Given the description of an element on the screen output the (x, y) to click on. 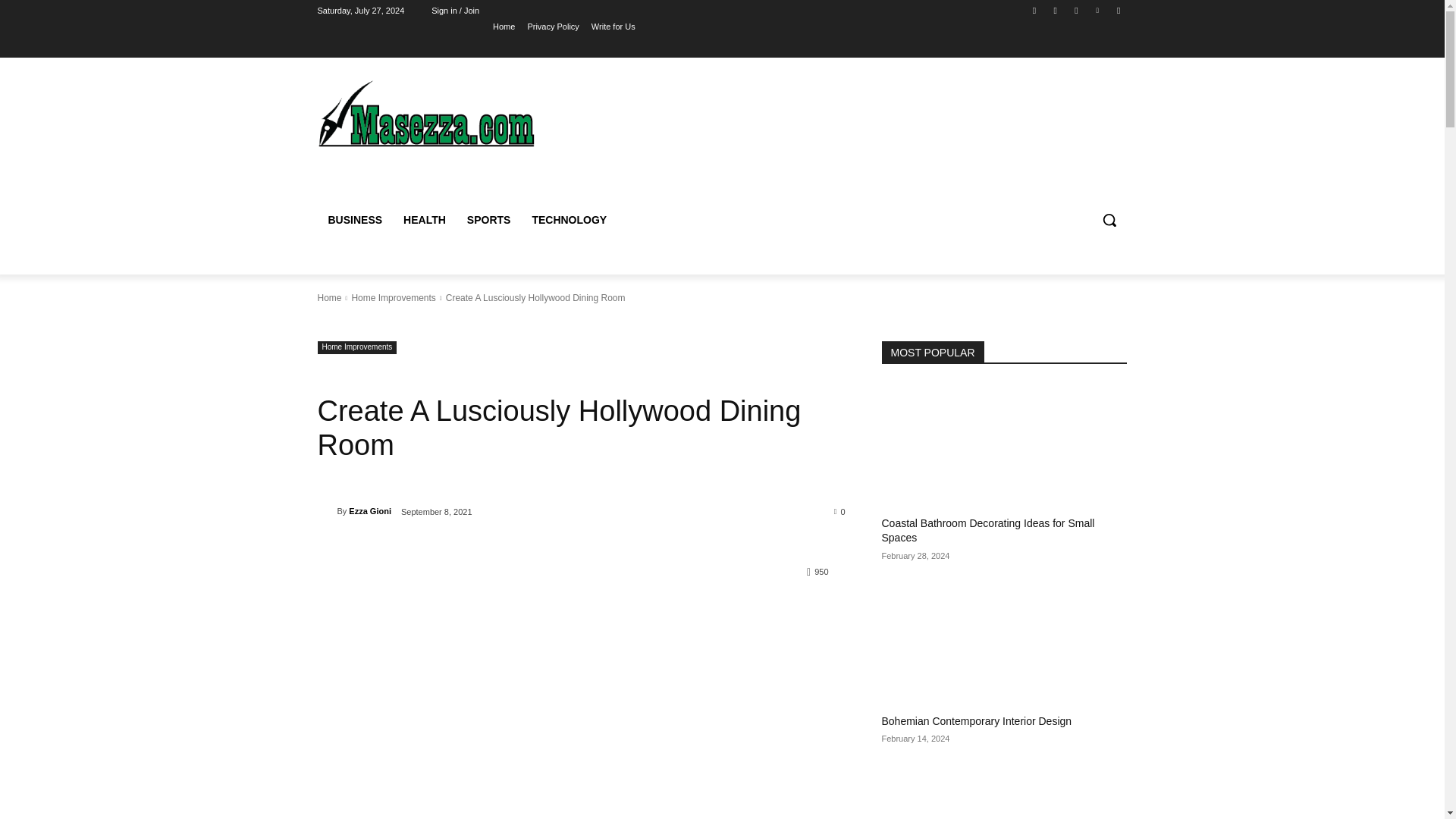
BUSINESS (355, 219)
Youtube (1117, 9)
Ezza Gioni (370, 510)
Vimeo (1097, 9)
View all posts in Home Improvements (392, 297)
Twitter (1075, 9)
0 (839, 510)
TECHNOLOGY (569, 219)
Privacy Policy (552, 25)
Home Improvements (356, 347)
SPORTS (489, 219)
HEALTH (425, 219)
Ezza Gioni (326, 510)
Instagram (1055, 9)
Home Improvements (392, 297)
